Given the description of an element on the screen output the (x, y) to click on. 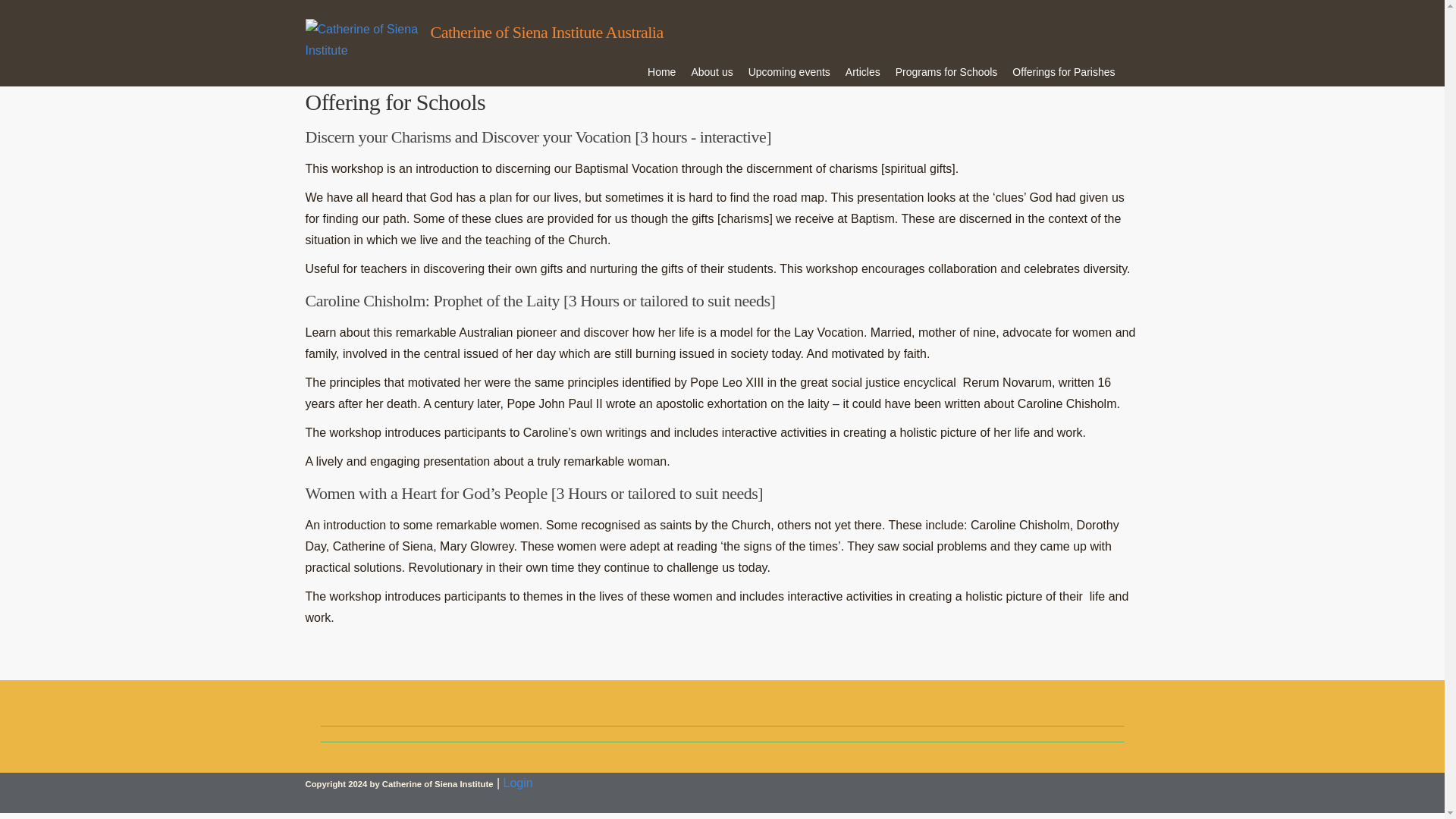
Articles (863, 71)
About us (710, 71)
Upcoming events (789, 71)
Programs for Schools (947, 71)
Login (517, 782)
Catherine of Siena Institute (366, 50)
Offerings for Parishes (1063, 71)
Home (661, 71)
Login (517, 782)
